Given the description of an element on the screen output the (x, y) to click on. 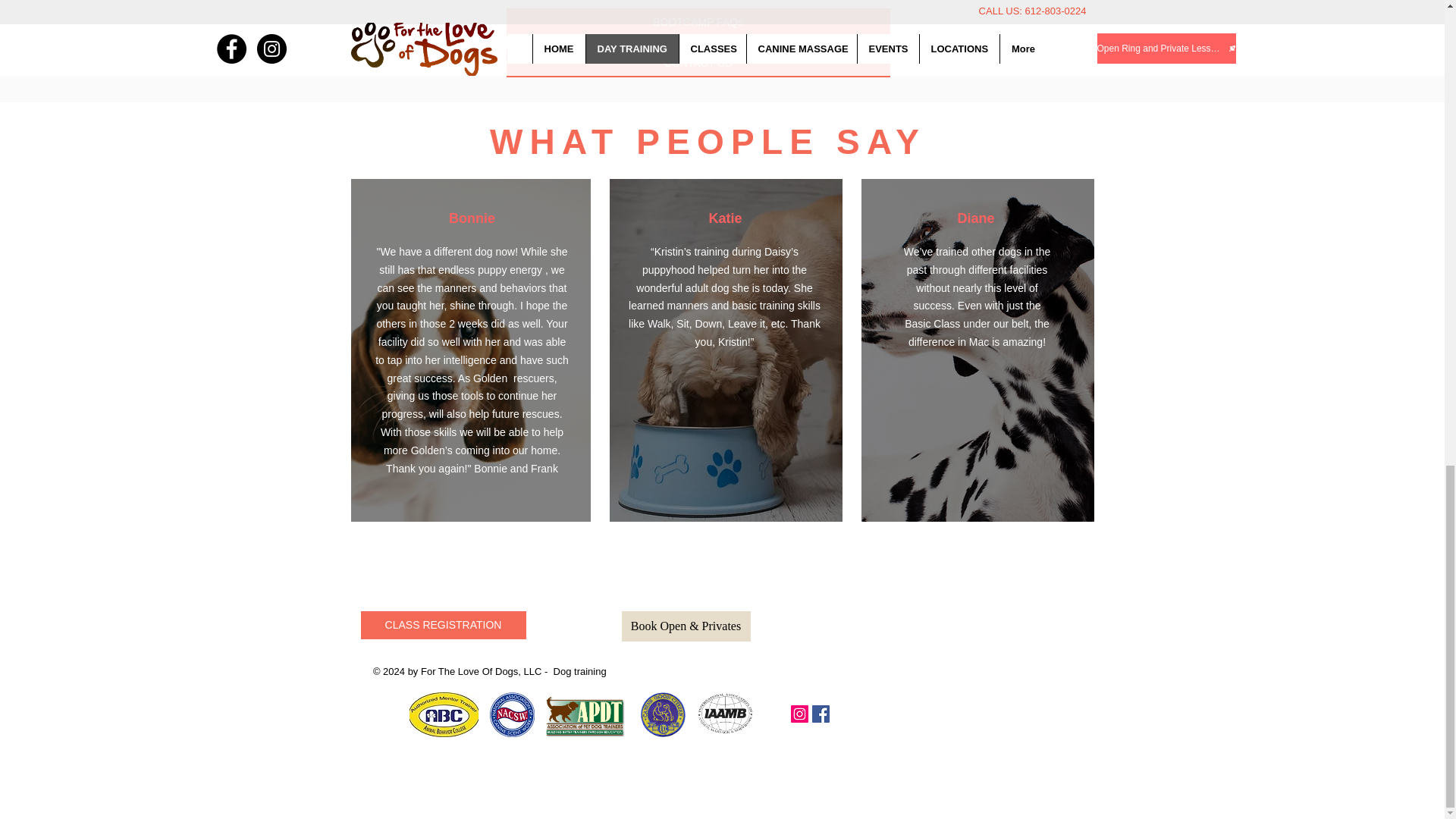
CLASS REGISTRATION (443, 624)
CONTACT US (697, 62)
BOOTCAMP FAQs (697, 22)
